Given the description of an element on the screen output the (x, y) to click on. 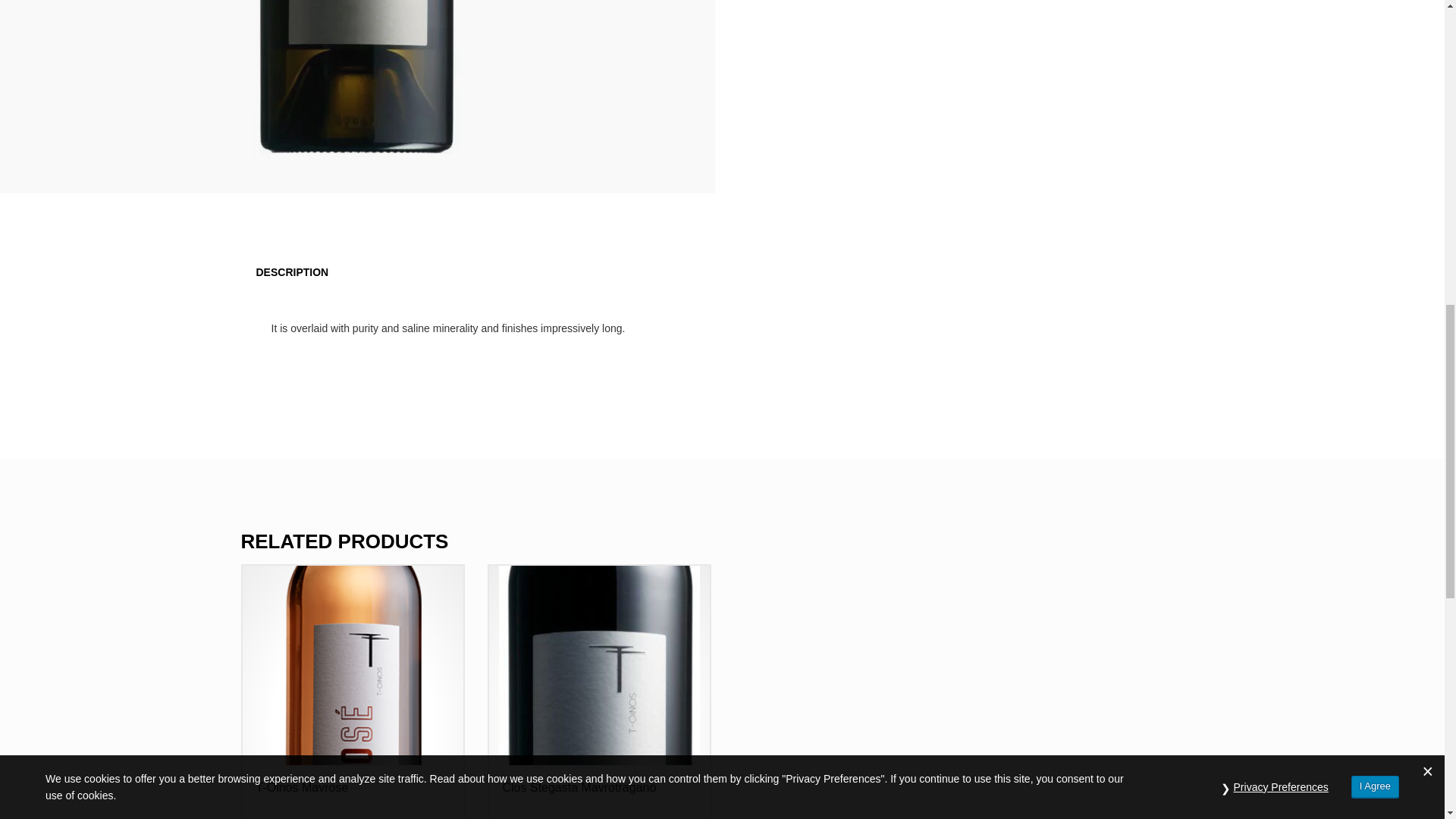
Clos Stegasta Asyrtiko (356, 89)
mavrose (351, 664)
Clos Stegasta Mavrotragano (599, 664)
